Given the description of an element on the screen output the (x, y) to click on. 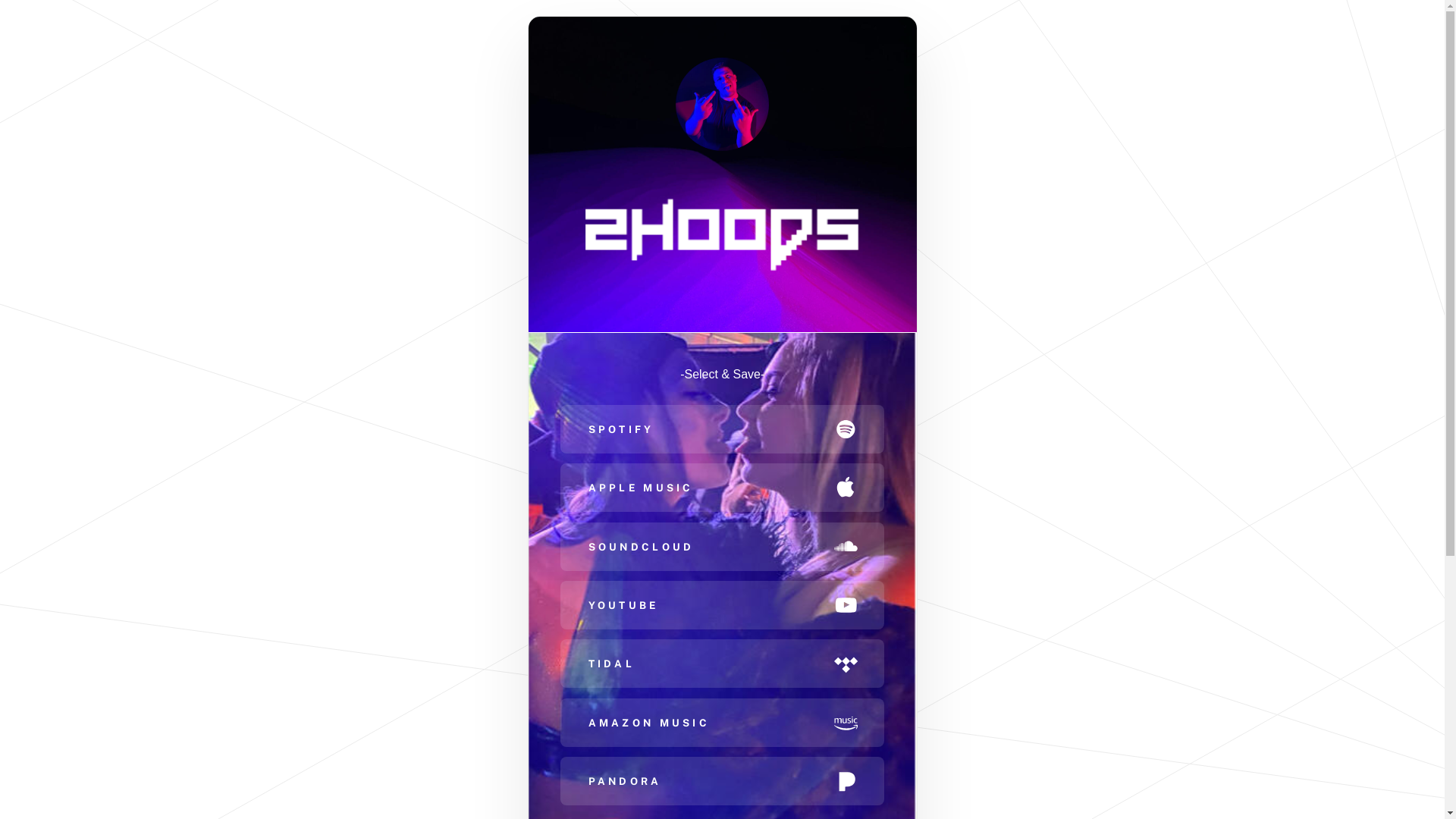
TIDAL Element type: text (722, 663)
PANDORA Element type: text (722, 780)
AMAZON MUSIC Element type: text (722, 722)
SOUNDCLOUD Element type: text (722, 546)
YOUTUBE Element type: text (722, 604)
APPLE MUSIC Element type: text (722, 487)
SPOTIFY Element type: text (722, 428)
